Given the description of an element on the screen output the (x, y) to click on. 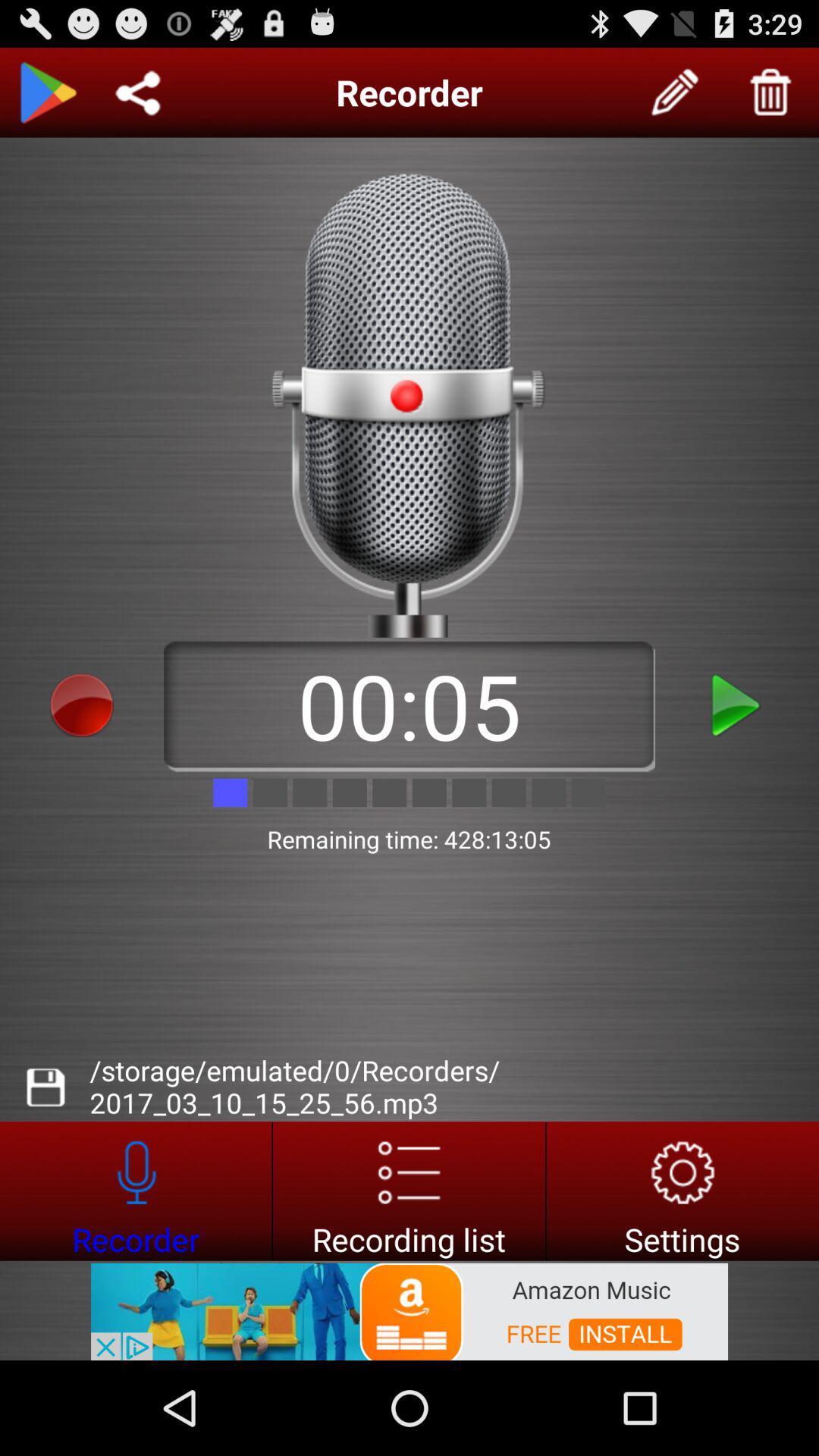
go back to google play store (47, 92)
